Given the description of an element on the screen output the (x, y) to click on. 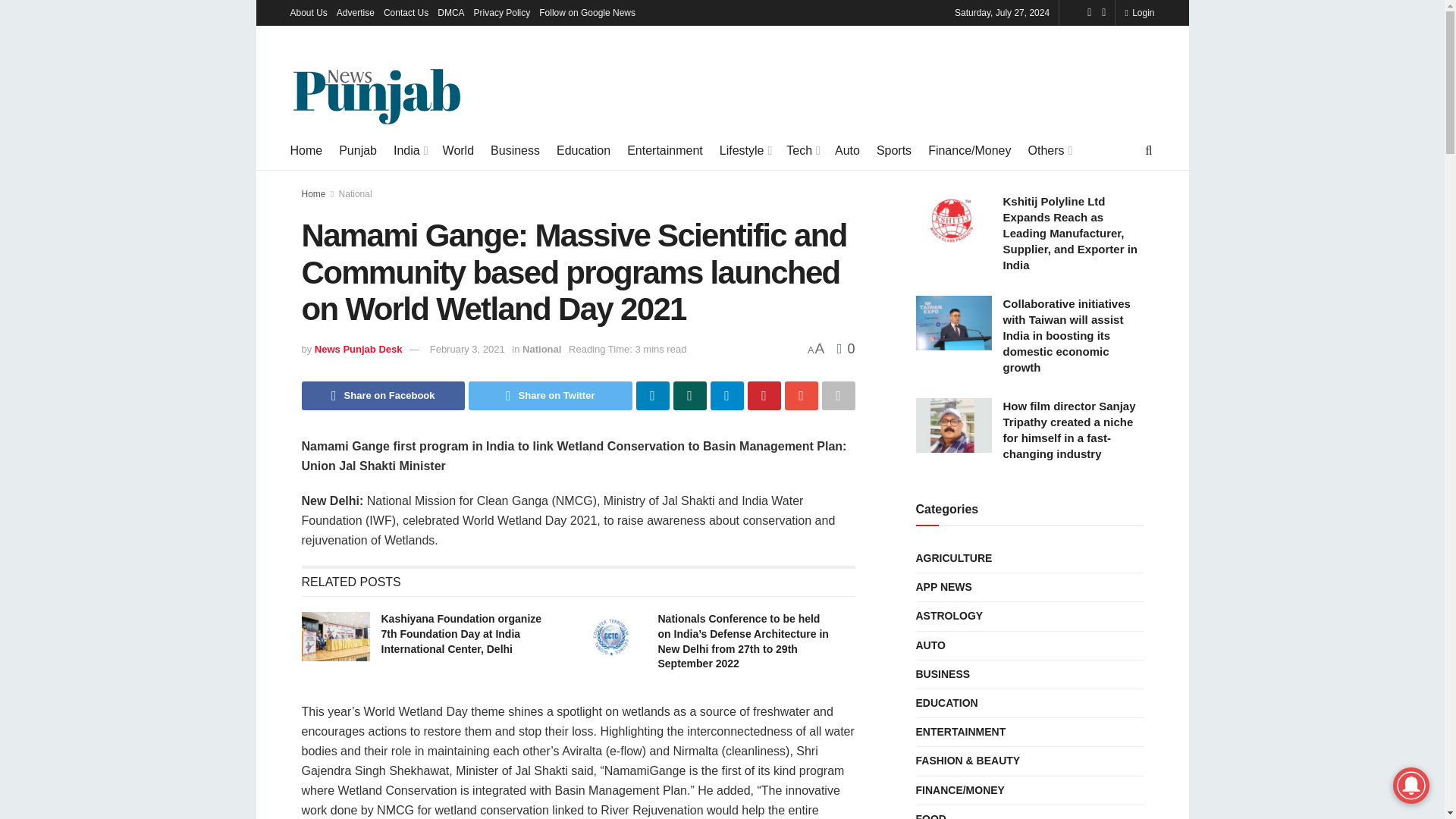
Contact Us (406, 12)
DMCA (451, 12)
Punjab (358, 150)
Auto (847, 150)
Tech (802, 150)
About Us (307, 12)
Privacy Policy (502, 12)
Entertainment (665, 150)
India (409, 150)
Follow on Google News (586, 12)
World (458, 150)
Lifestyle (744, 150)
Sports (893, 150)
Business (515, 150)
Login (1139, 12)
